Given the description of an element on the screen output the (x, y) to click on. 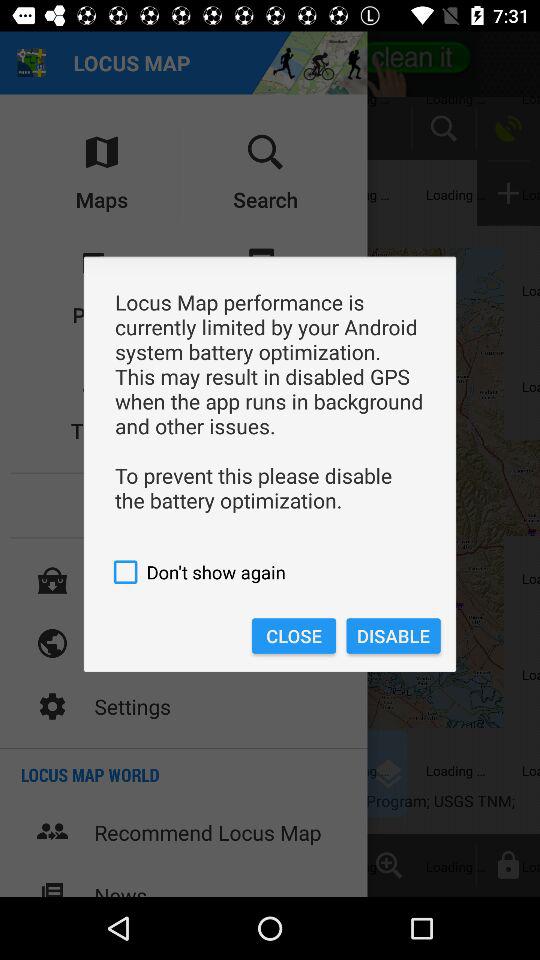
click item next to the close (393, 635)
